Given the description of an element on the screen output the (x, y) to click on. 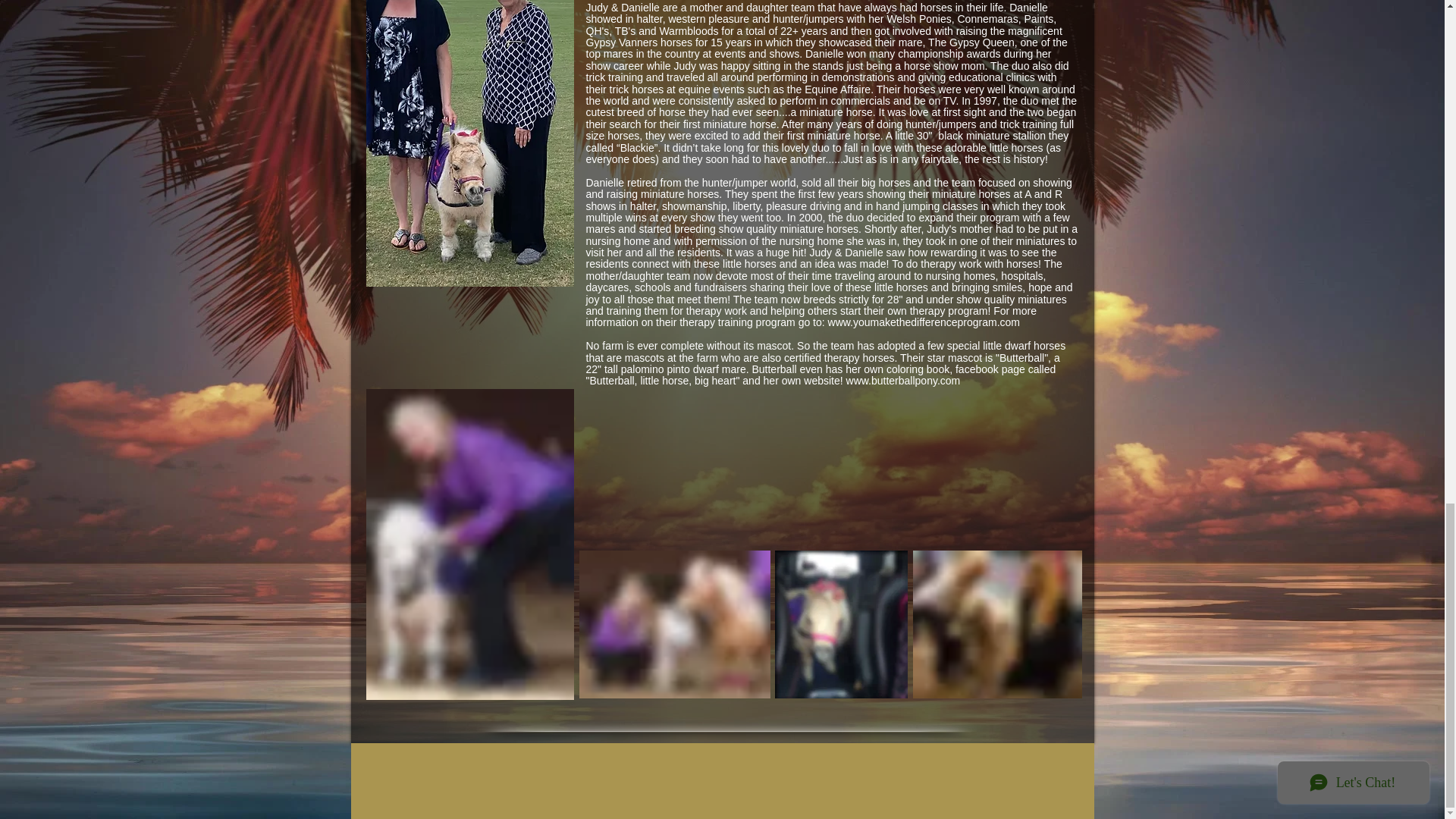
www.youmakethedifferenceprogram.com (924, 322)
www.butterballpony.com (902, 380)
